Given the description of an element on the screen output the (x, y) to click on. 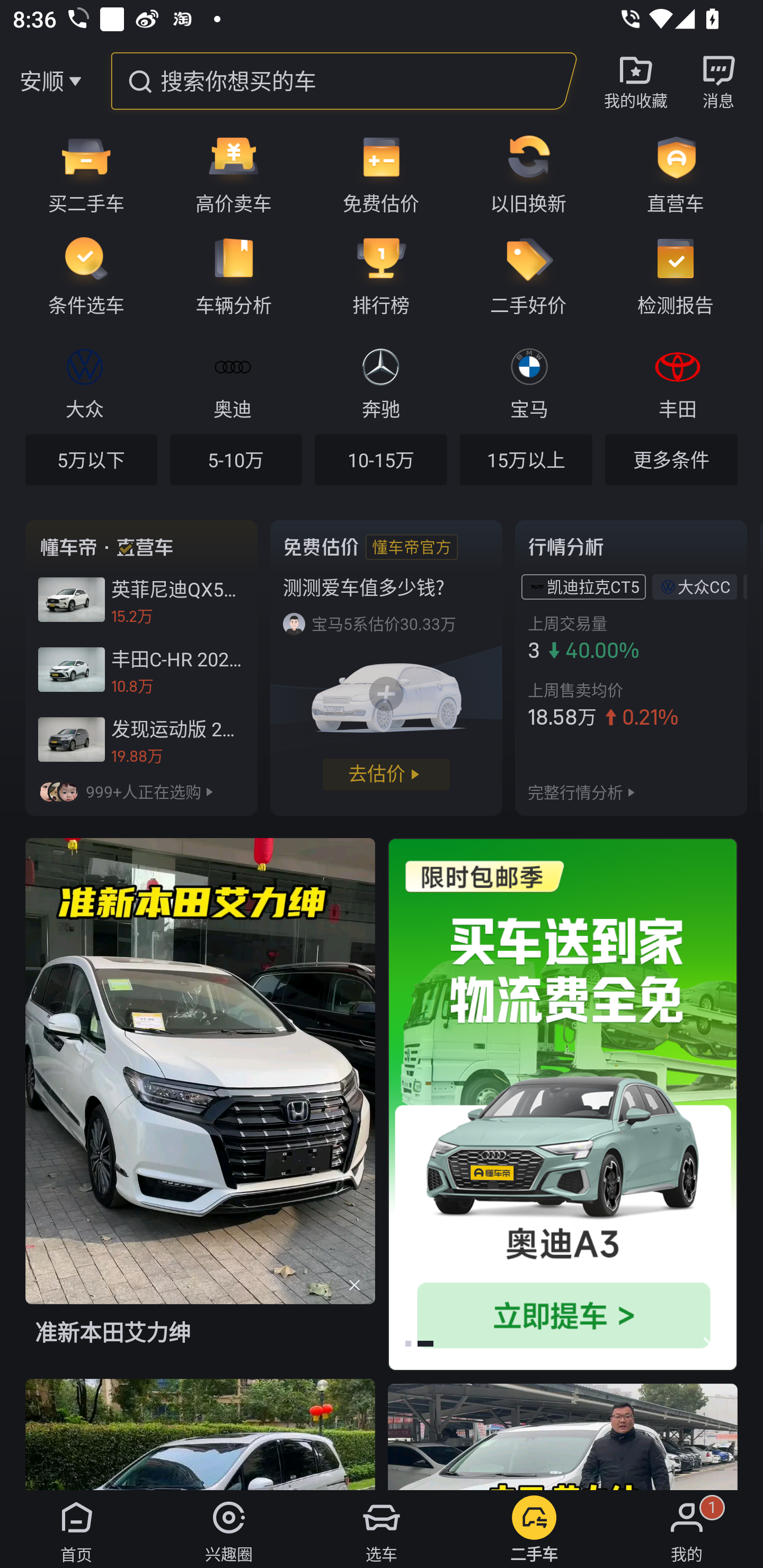
我的收藏 (635, 80)
安顺 (41, 80)
买二手车 (80, 172)
高价卖车 (233, 172)
免费估价 (380, 172)
以旧换新 (528, 172)
直营车 (682, 172)
条件选车 (80, 274)
车辆分析 (233, 274)
排行榜 (380, 274)
二手好价 (528, 274)
检测报告 (682, 274)
大众 (84, 381)
奥迪 (232, 381)
奔驰 (380, 381)
宝马 (529, 381)
丰田 (677, 381)
5万以下 (91, 459)
5-10万 (236, 459)
10-15万 (380, 459)
15万以上 (526, 459)
更多条件 (671, 459)
测测爱车值多少钱? 宝马5系估价30.33万 去估价  (386, 667)
英菲尼迪QX50 2020款 改款 2.0T 两驱时尚版 15.2万 (141, 599)
凯迪拉克CT5 (593, 585)
大众CC (703, 585)
丰田C-HR 2021款 2.0L 舒适版 10.8万 (141, 669)
发现运动版 2021款 249PS R-Dynamic S 性能版 5座 19.88万 (141, 739)
999+人正在选购 (141, 791)
完整行情分析 (575, 791)
准新本田艾力绅 (200, 1107)
 首页 (76, 1528)
 兴趣圈 (228, 1528)
 选车 (381, 1528)
二手车 (533, 1528)
 我的 (686, 1528)
